Given the description of an element on the screen output the (x, y) to click on. 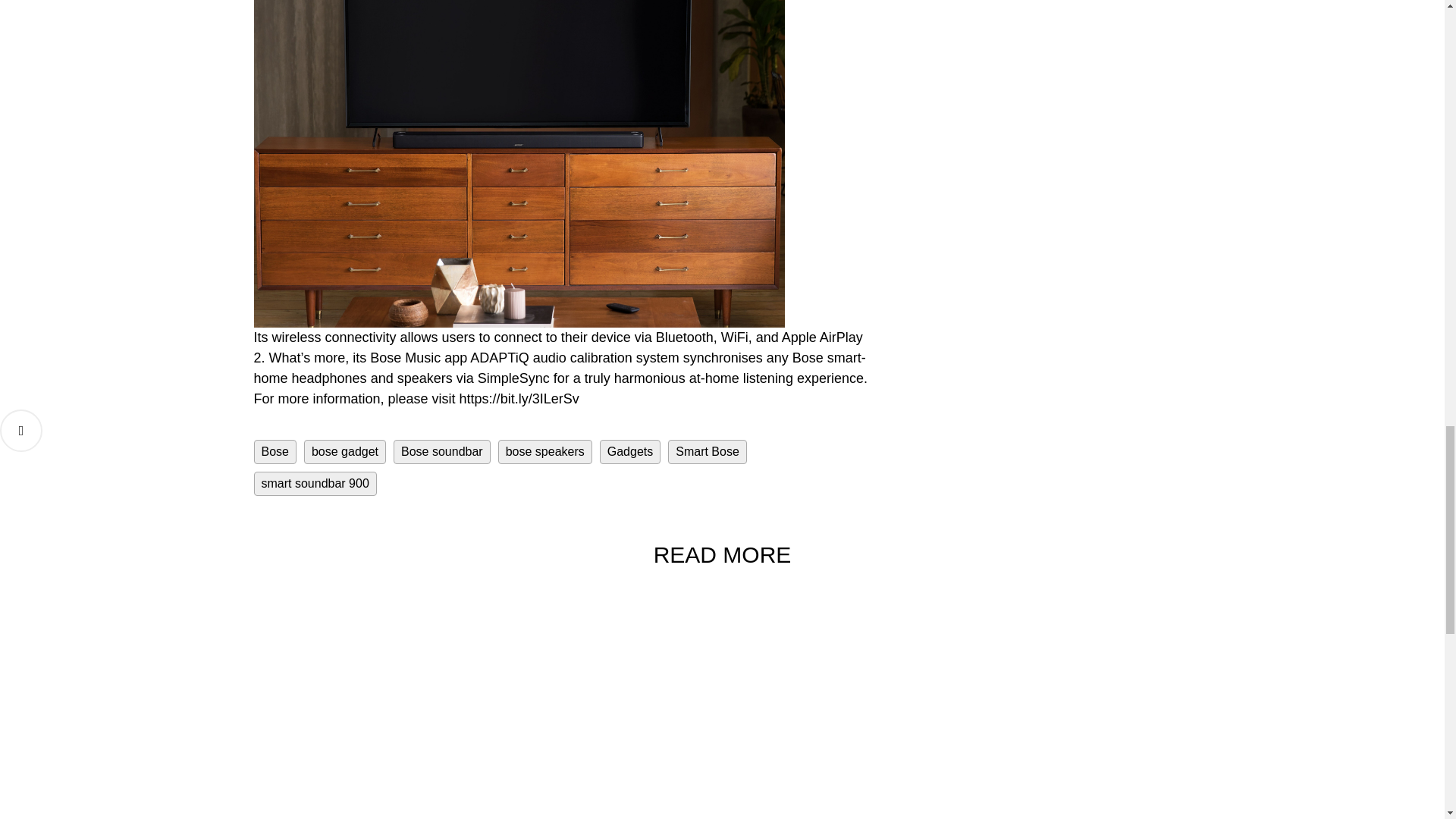
smart soundbar 900 (314, 483)
Smart Bose (707, 451)
Bose soundbar (441, 451)
Gadgets (630, 451)
bose speakers (544, 451)
bose gadget (344, 451)
Bose (274, 451)
